Given the description of an element on the screen output the (x, y) to click on. 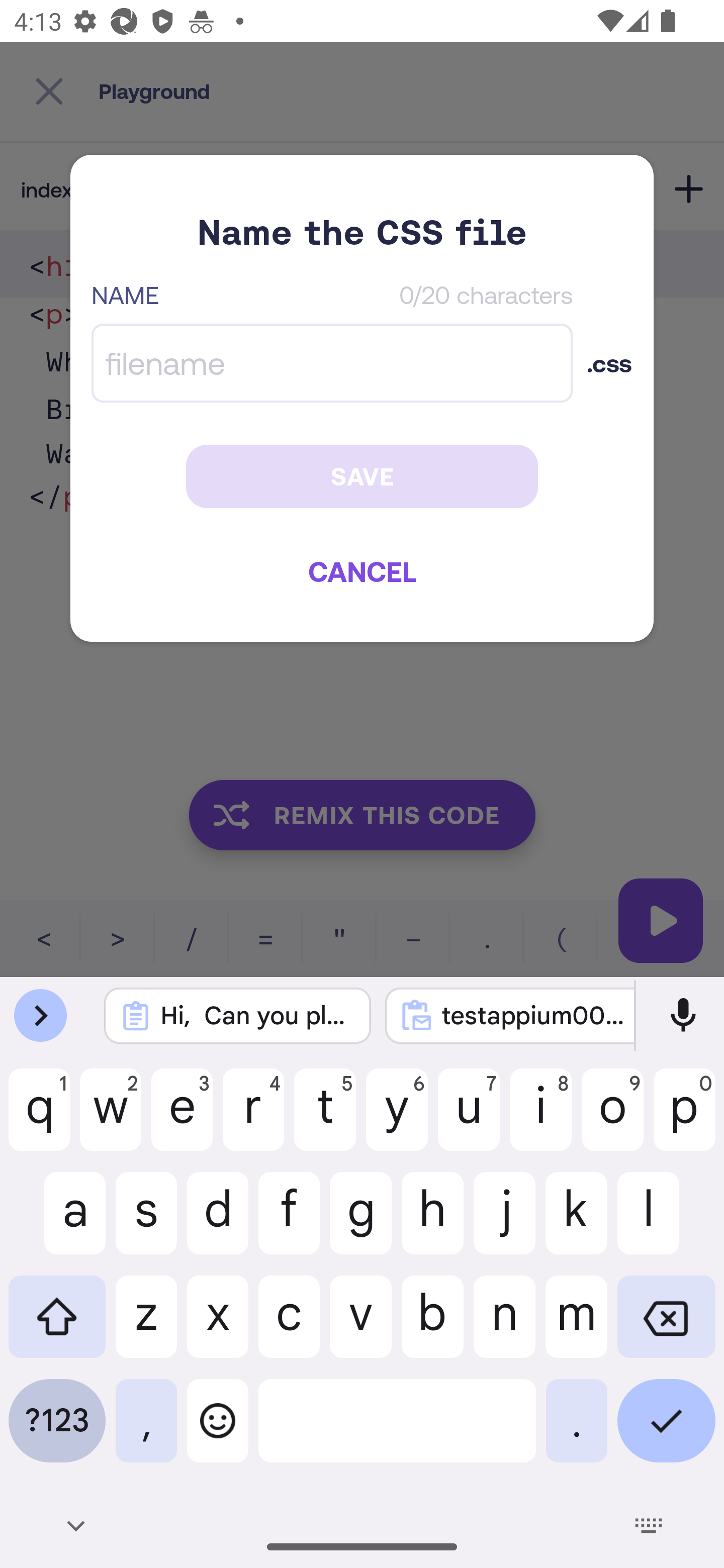
filename (331, 362)
SAVE (361, 476)
CANCEL (361, 571)
